Given the description of an element on the screen output the (x, y) to click on. 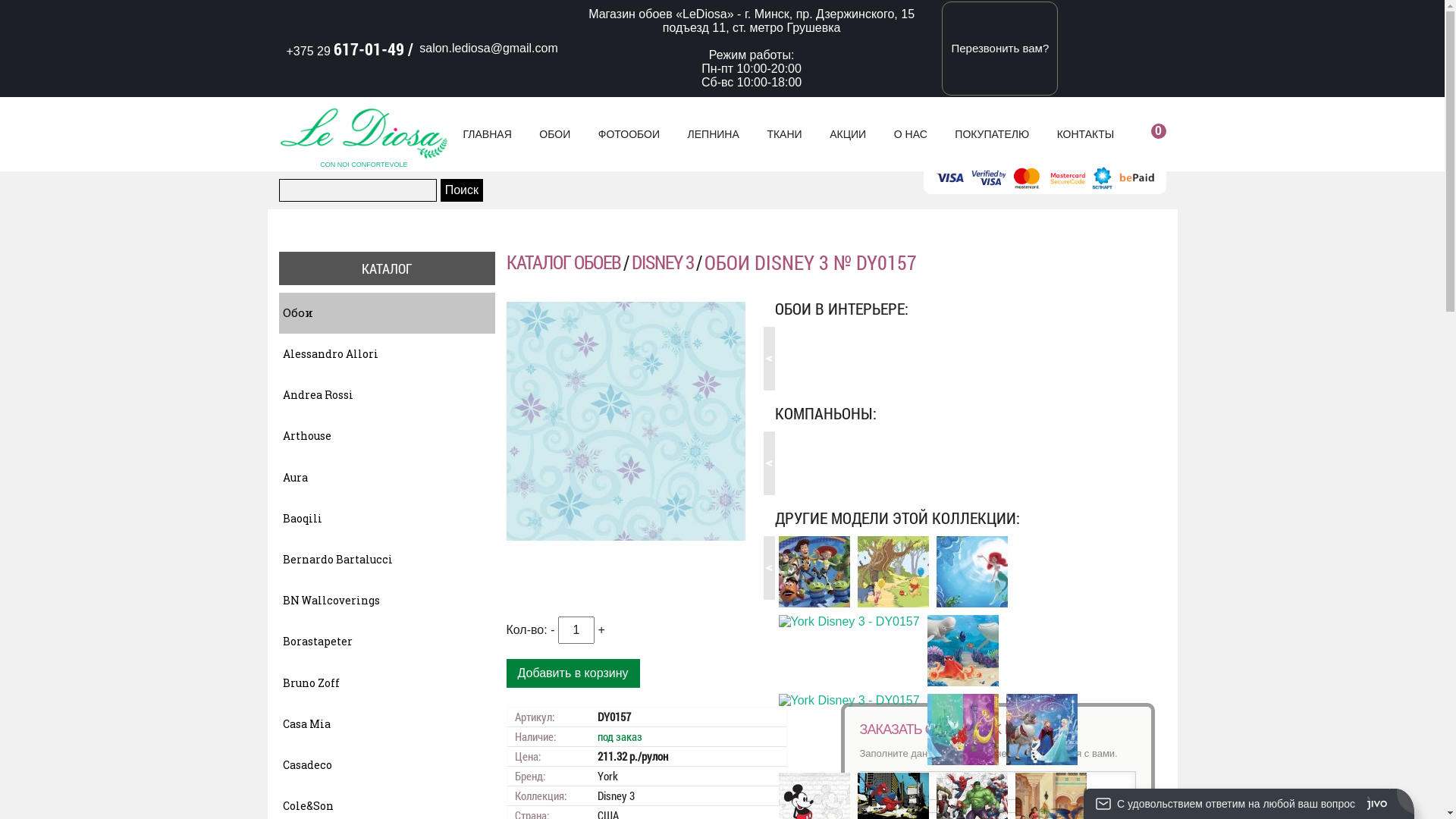
CON NOI CONFORTEVOLE Element type: text (364, 133)
York Disney 3 - DY0157 Element type: hover (848, 621)
Bruno Zoff Element type: text (387, 682)
BN Wallcoverings Element type: text (387, 600)
Bernardo Bartalucci Element type: text (387, 559)
York Disney 3 - DY0157 Element type: hover (962, 650)
+375 29 617-01-49 Element type: text (345, 48)
0 Element type: text (1147, 134)
York Disney 3 - DY0157 Element type: hover (813, 571)
Baoqili Element type: text (387, 518)
Borastapeter Element type: text (387, 641)
Casa Mia Element type: text (387, 723)
York Disney 3 - DY0157 Element type: hover (962, 729)
York Disney 3 - DY0157 Element type: hover (892, 571)
Andrea Rossi Element type: text (387, 394)
York Disney 3 - DY0157 Element type: hover (848, 700)
Casadeco Element type: text (387, 764)
DISNEY 3 Element type: text (661, 261)
Aura Element type: text (387, 477)
York Disney 3 - DY0157 Element type: hover (971, 571)
salon.lediosa@gmail.com Element type: text (488, 48)
Arthouse Element type: text (387, 435)
York Disney 3 - DY0157 Element type: hover (1041, 729)
Alessandro Allori Element type: text (387, 353)
